Given the description of an element on the screen output the (x, y) to click on. 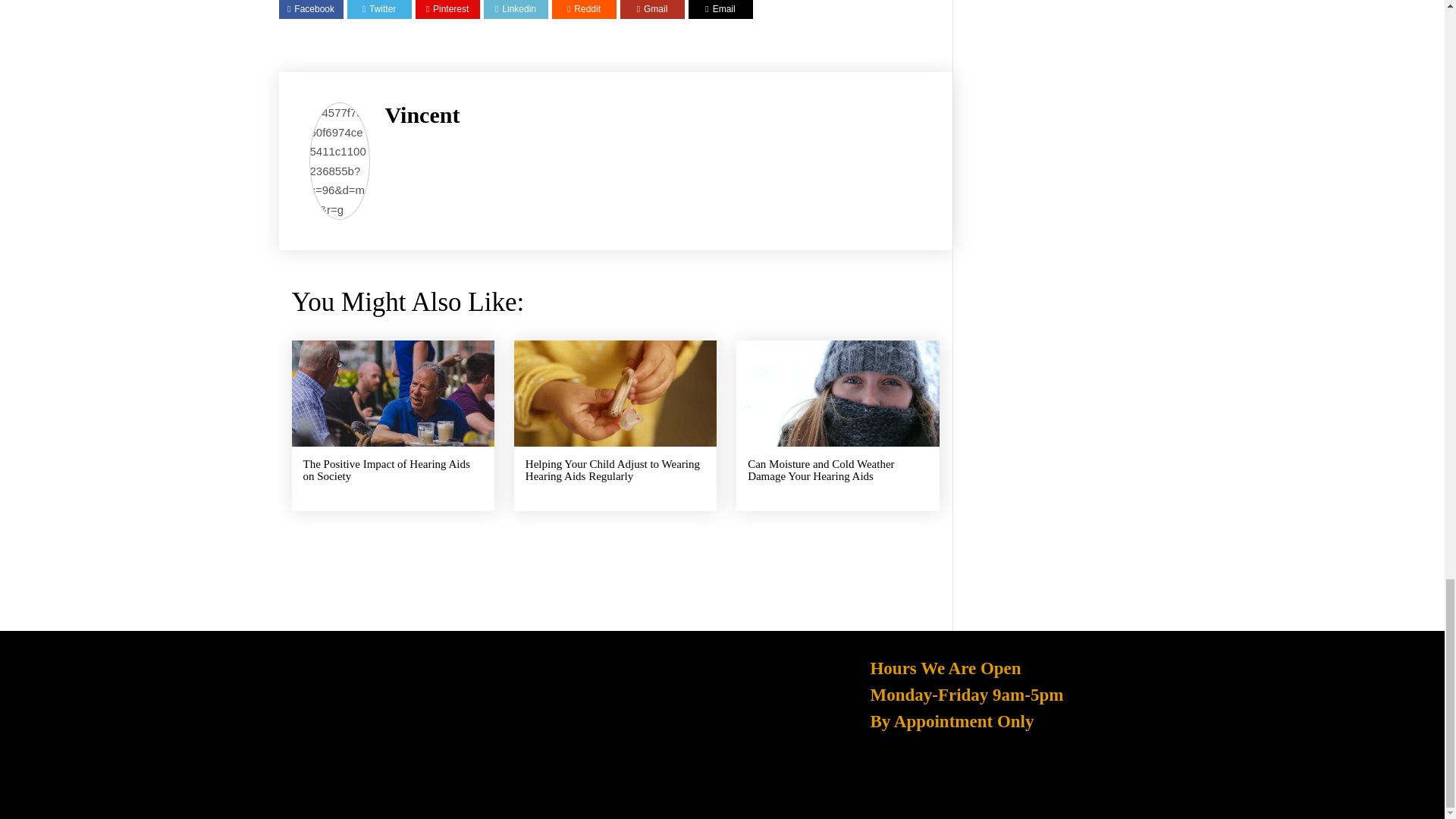
Share on Facebook (310, 9)
Email to someone (719, 9)
Share on Linkedin (515, 9)
Email to someone (652, 9)
Share on Pinterest (447, 9)
Share on Reddit (583, 9)
Share on Twitter (379, 9)
